Given the description of an element on the screen output the (x, y) to click on. 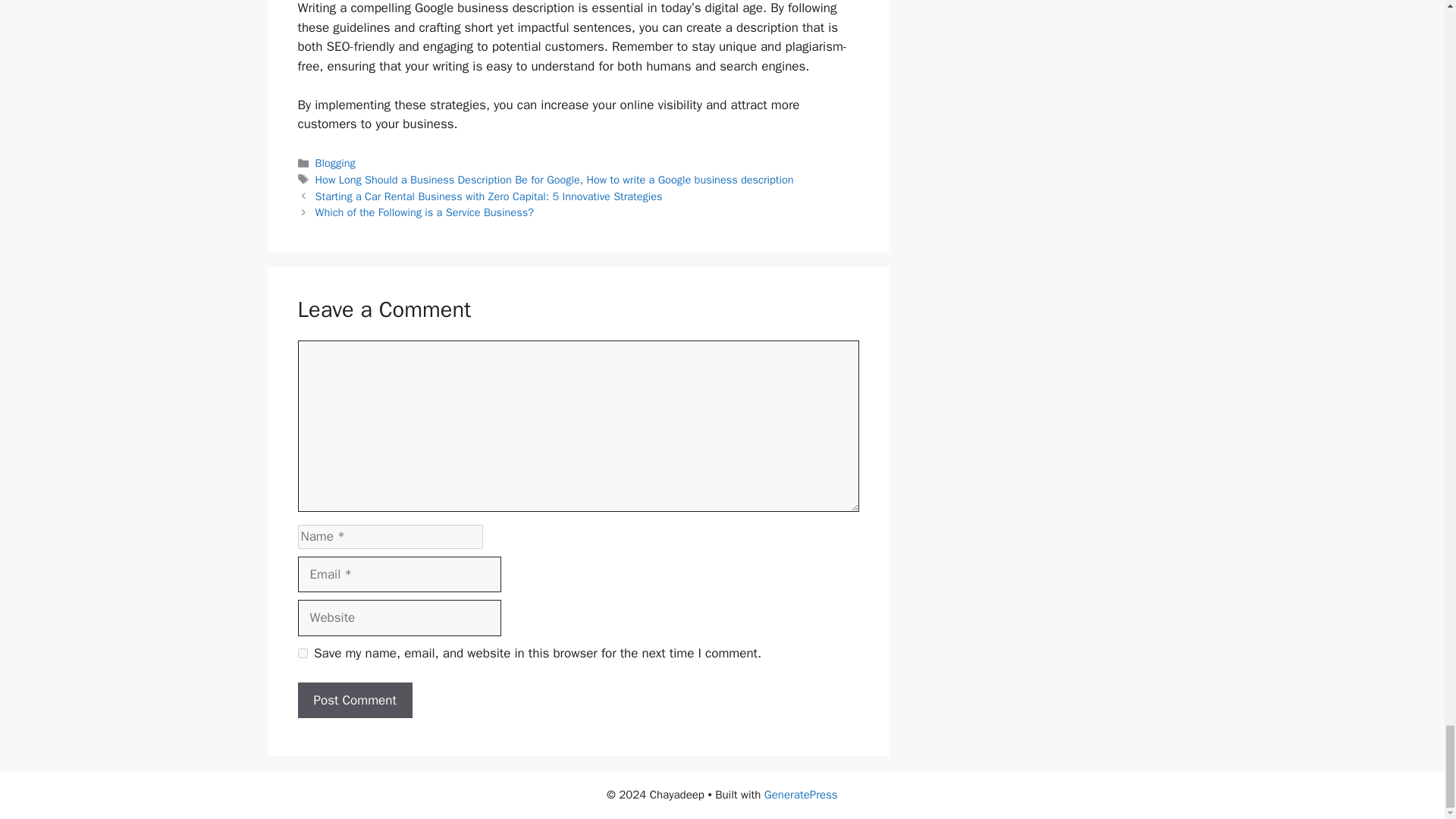
Post Comment (354, 700)
yes (302, 653)
